Given the description of an element on the screen output the (x, y) to click on. 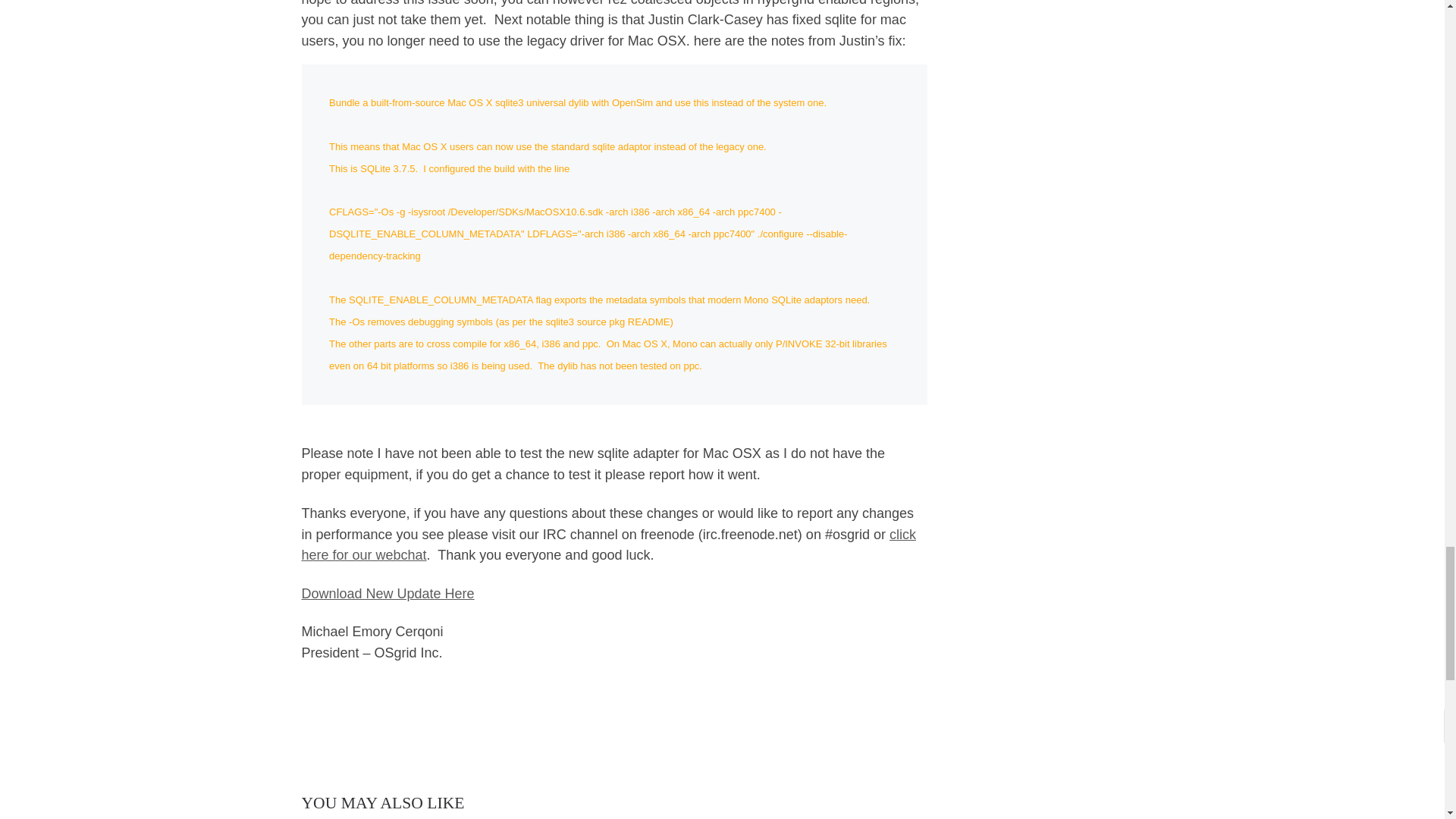
click here for our webchat (608, 545)
Download New Update Here (387, 593)
Web Chat (608, 545)
Downloads (387, 593)
